Given the description of an element on the screen output the (x, y) to click on. 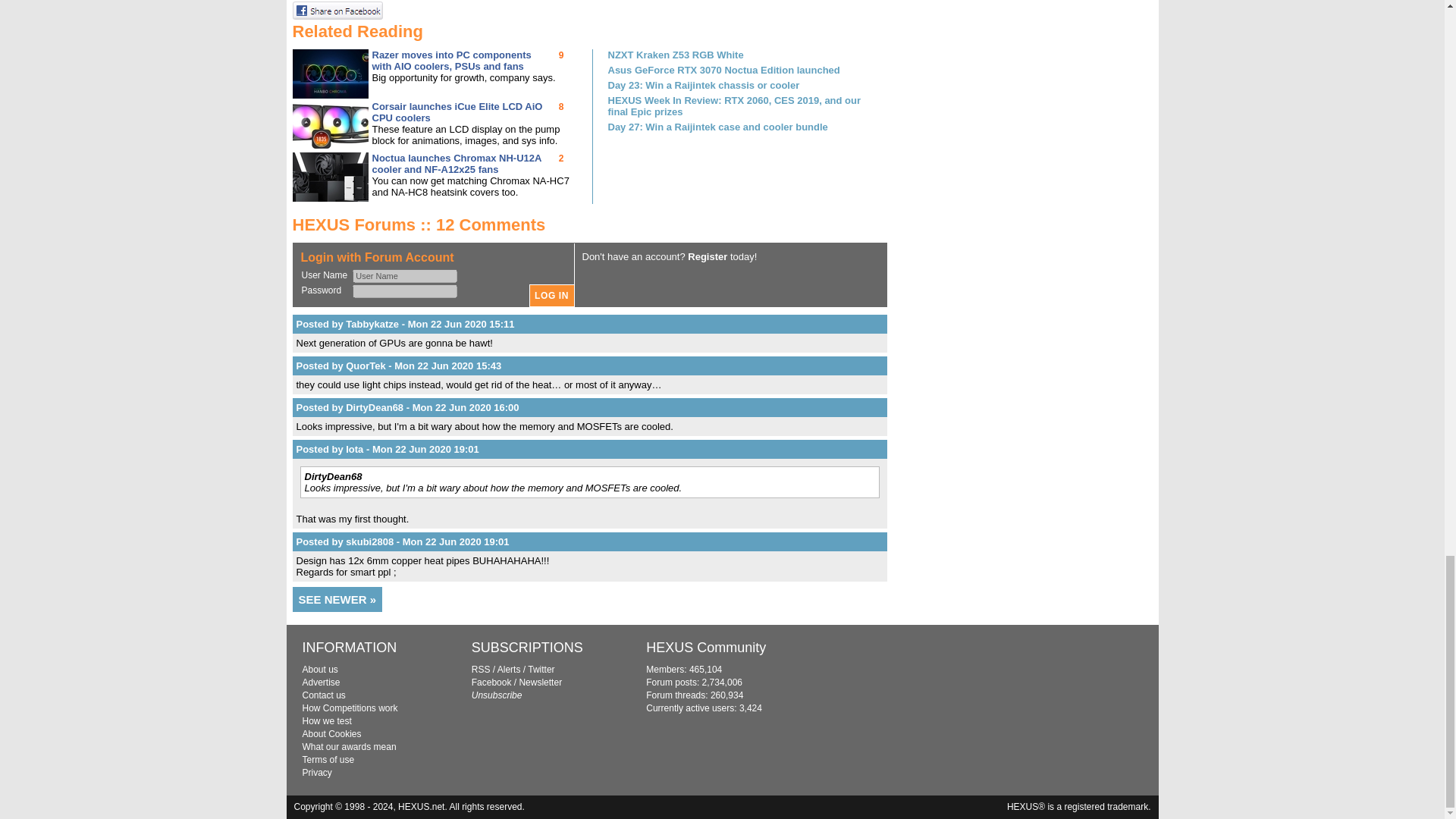
9 (561, 55)
Corsair launches iCue Elite LCD AiO CPU coolers (456, 111)
8 (561, 106)
User Name (404, 275)
Log in (552, 295)
